Given the description of an element on the screen output the (x, y) to click on. 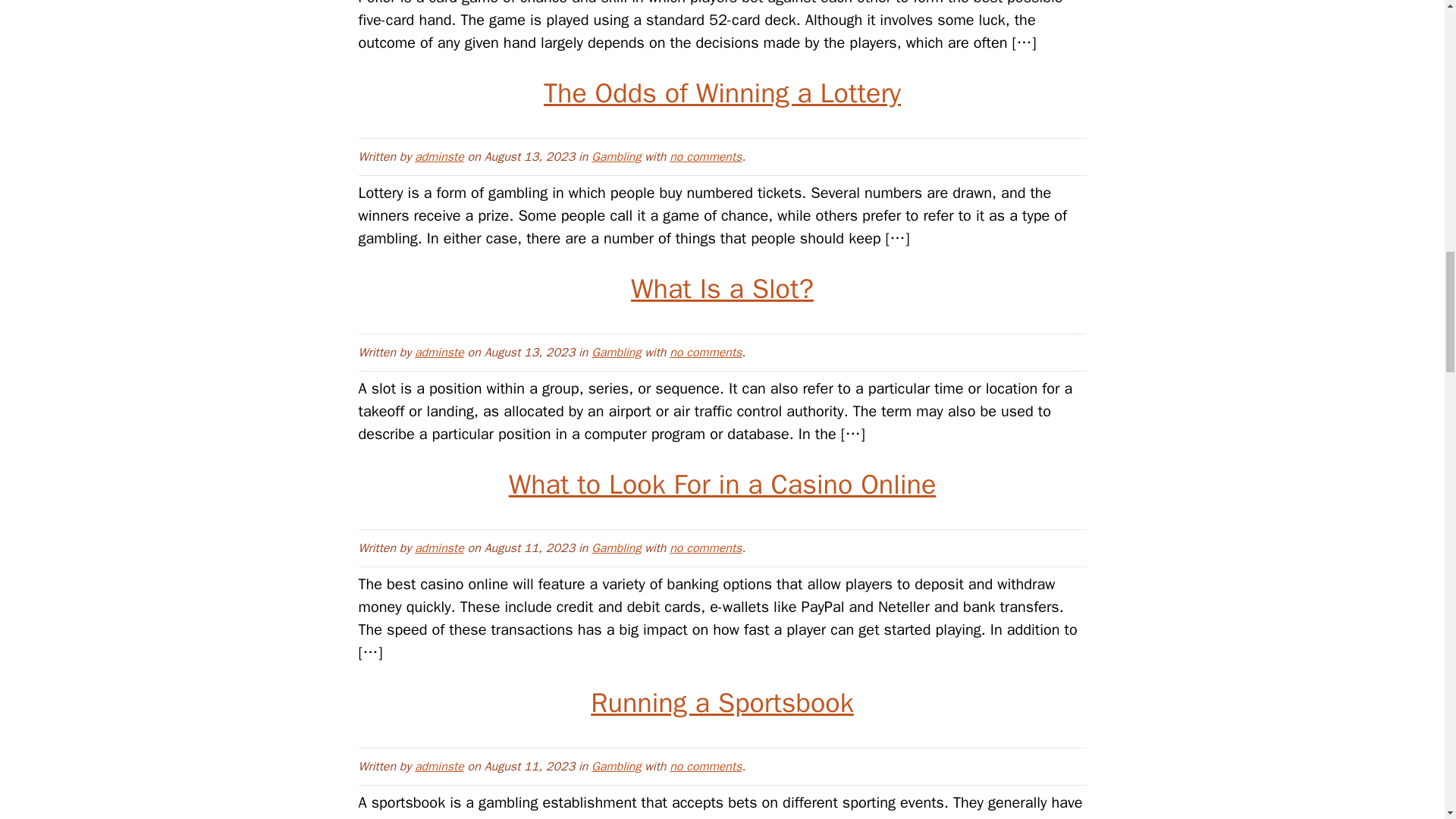
adminste (439, 156)
What Is a Slot? (722, 288)
The Odds of Winning a Lottery (722, 92)
Gambling (615, 156)
no comments (705, 156)
